Given the description of an element on the screen output the (x, y) to click on. 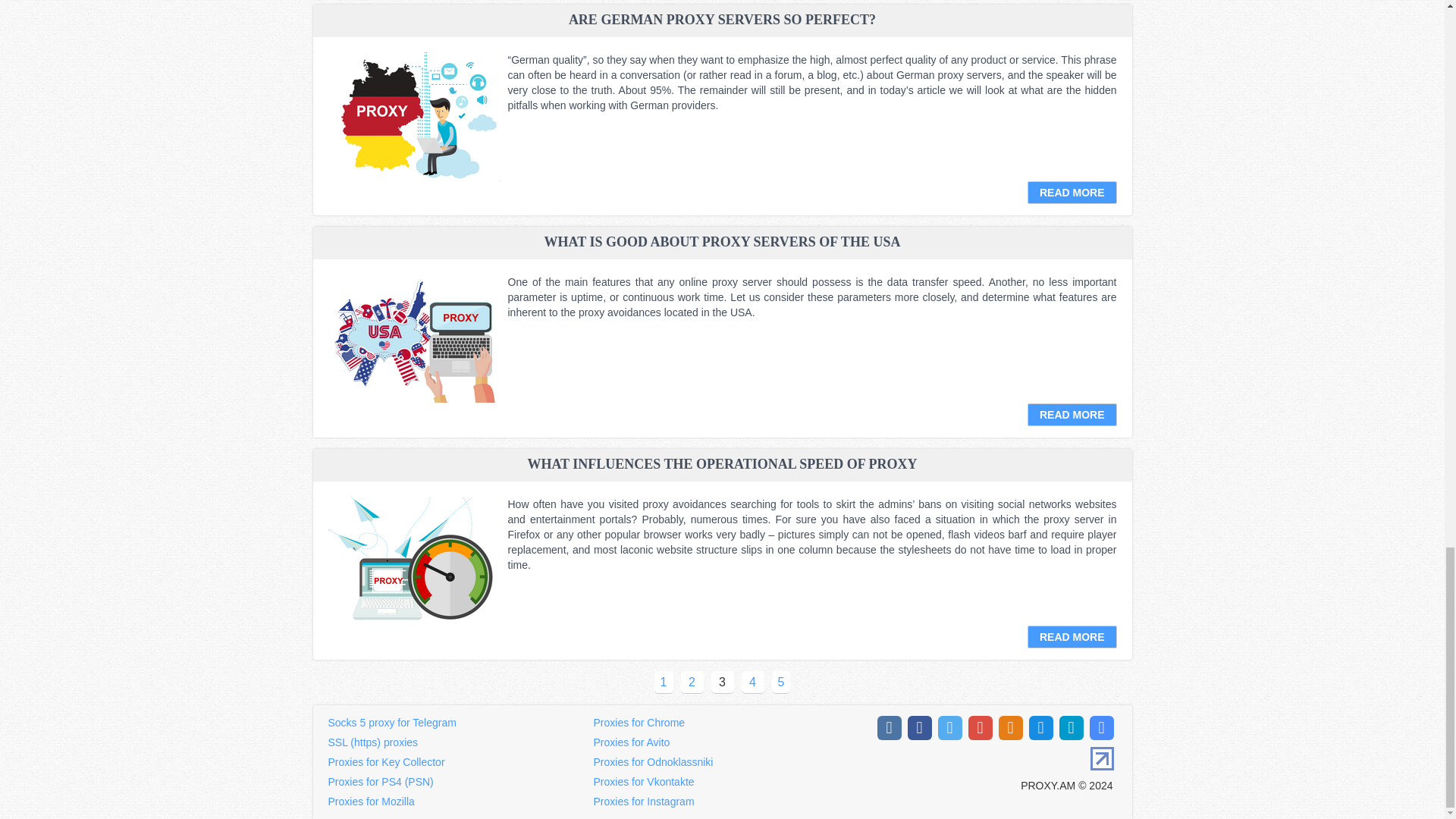
LiveInternet (1101, 758)
READ MORE (1071, 191)
What influences the operational speed of proxy (413, 560)
What is good about proxy servers of the USA (413, 338)
Are German proxy servers so perfect? (413, 116)
